Given the description of an element on the screen output the (x, y) to click on. 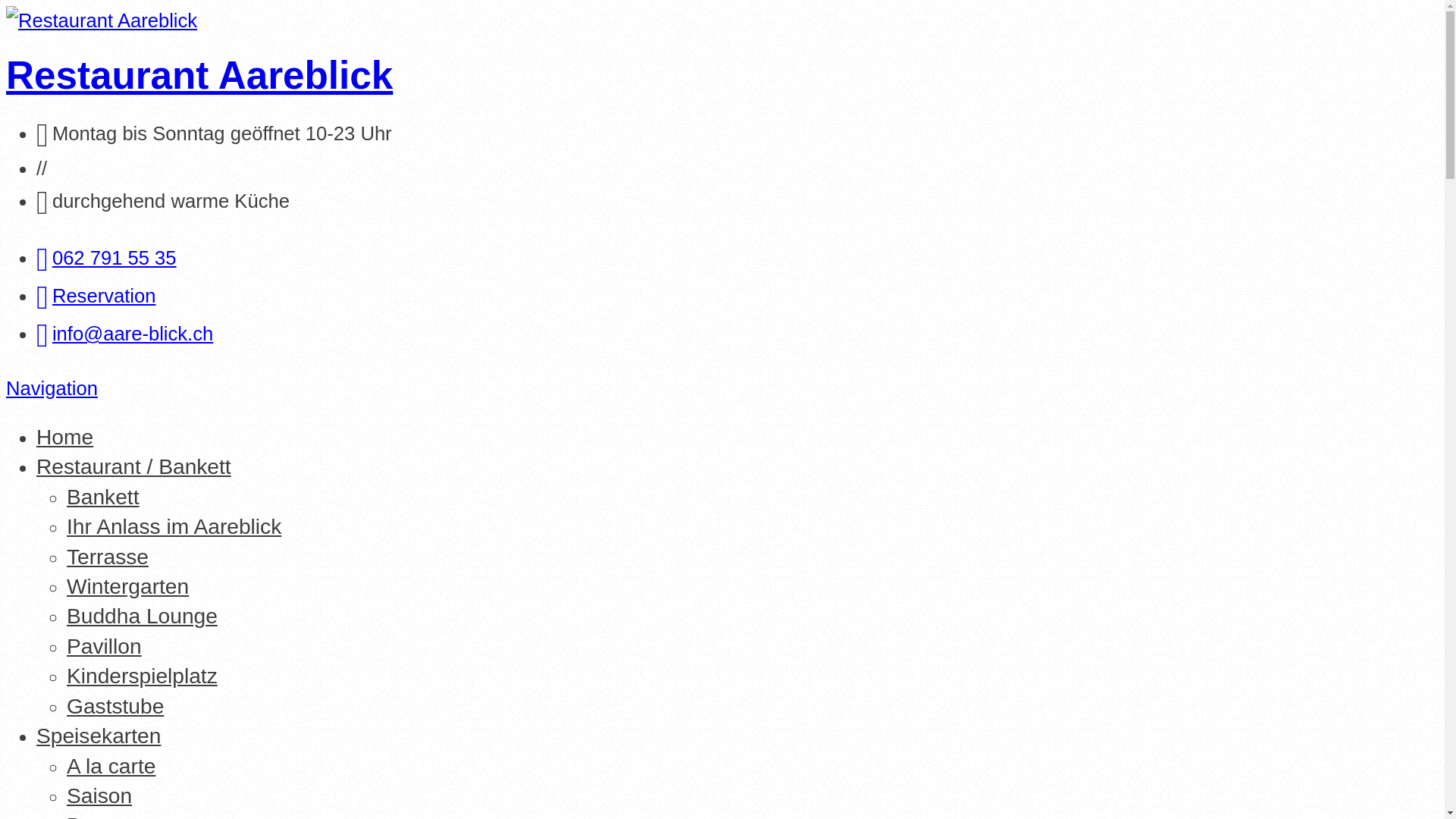
// Element type: text (41, 167)
Bankett Element type: text (102, 496)
Restaurant / Bankett Element type: text (133, 466)
info@aare-blick.ch Element type: text (124, 333)
Speisekarten Element type: text (98, 735)
Buddha Lounge Element type: text (141, 615)
062 791 55 35 Element type: text (106, 257)
Restaurant Aareblick Element type: text (199, 75)
A la carte Element type: text (110, 766)
Wintergarten Element type: text (127, 586)
Reservation Element type: text (95, 295)
Kinderspielplatz Element type: text (141, 675)
Saison Element type: text (98, 795)
Pavillon Element type: text (103, 646)
Gaststube Element type: text (114, 706)
Navigation Element type: text (51, 387)
Home Element type: text (64, 436)
Terrasse Element type: text (107, 556)
Ihr Anlass im Aareblick Element type: text (173, 526)
